Given the description of an element on the screen output the (x, y) to click on. 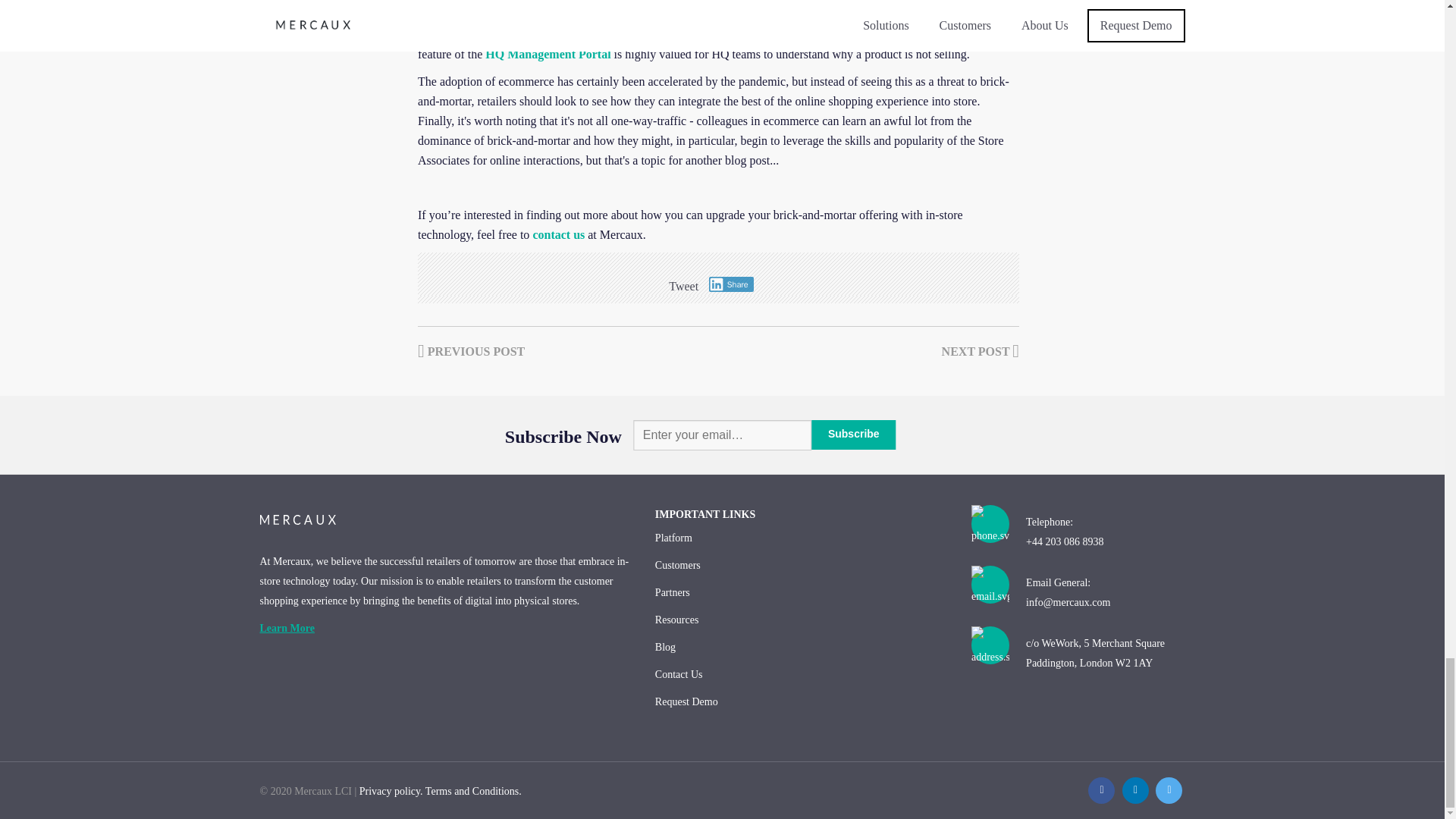
Tweet (683, 285)
Request Demo (801, 701)
Blog (801, 646)
Partners (801, 592)
Share (731, 283)
Platform (801, 538)
Subscribe (853, 434)
PREVIOUS POST (470, 350)
Resources (801, 619)
NEXT POST (980, 350)
contact us (558, 233)
Customers (801, 565)
HQ Management Portal (547, 52)
phone.svg (990, 530)
mercaux-logo-white (296, 519)
